Given the description of an element on the screen output the (x, y) to click on. 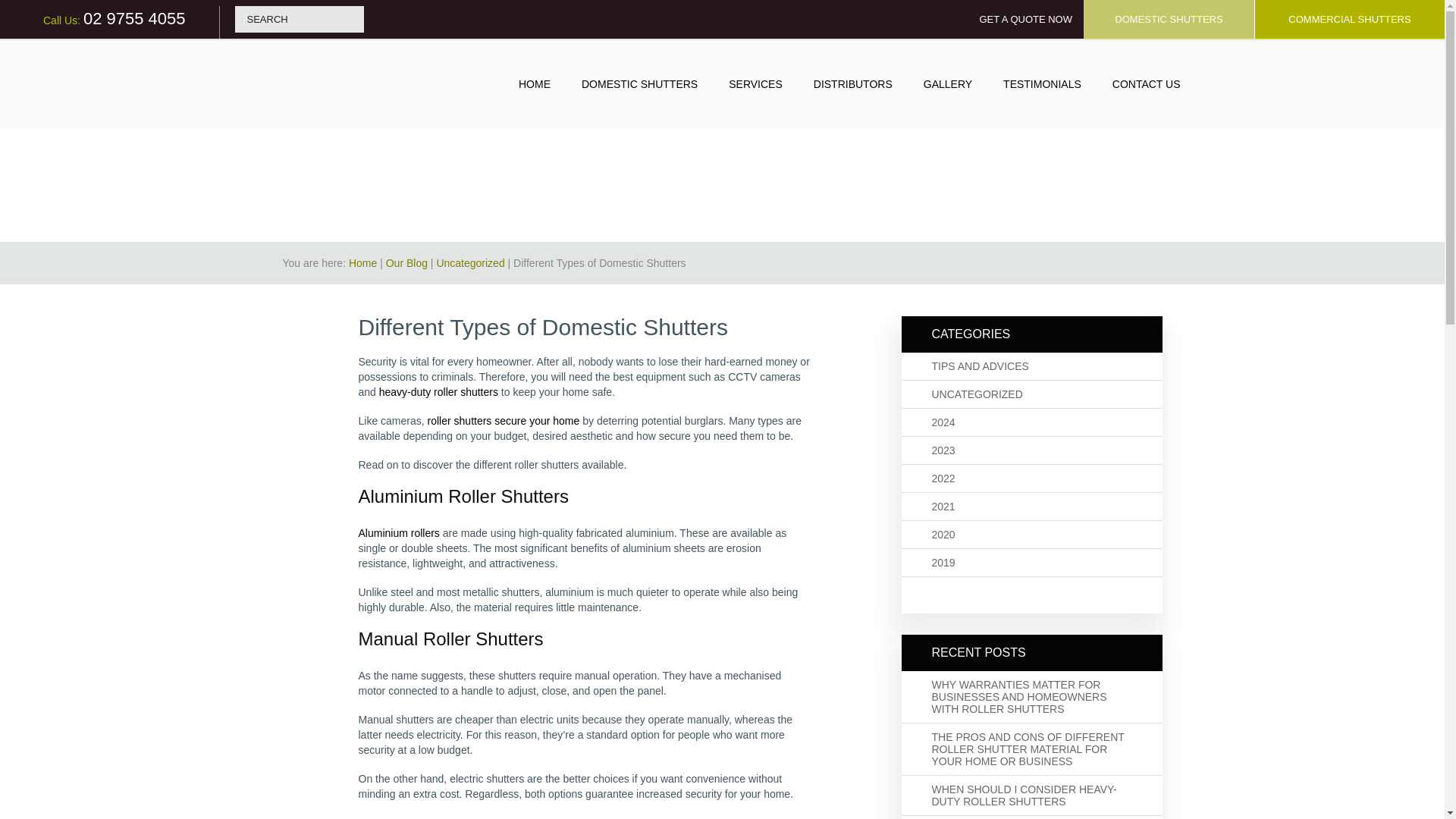
Go to Maverick Roller Products. (363, 263)
GALLERY (948, 83)
roller shutters secure your home (503, 420)
02 9755 4055 (134, 18)
Uncategorized (469, 263)
Our Blog (406, 263)
DOMESTIC SHUTTERS (639, 83)
CONTACT US (1146, 83)
Go to the Uncategorized category archives. (469, 263)
DISTRIBUTORS (852, 83)
Go to Our Blog. (406, 263)
TESTIMONIALS (1042, 83)
DOMESTIC SHUTTERS (1168, 19)
Home (363, 263)
GET A QUOTE NOW (1024, 19)
